Given the description of an element on the screen output the (x, y) to click on. 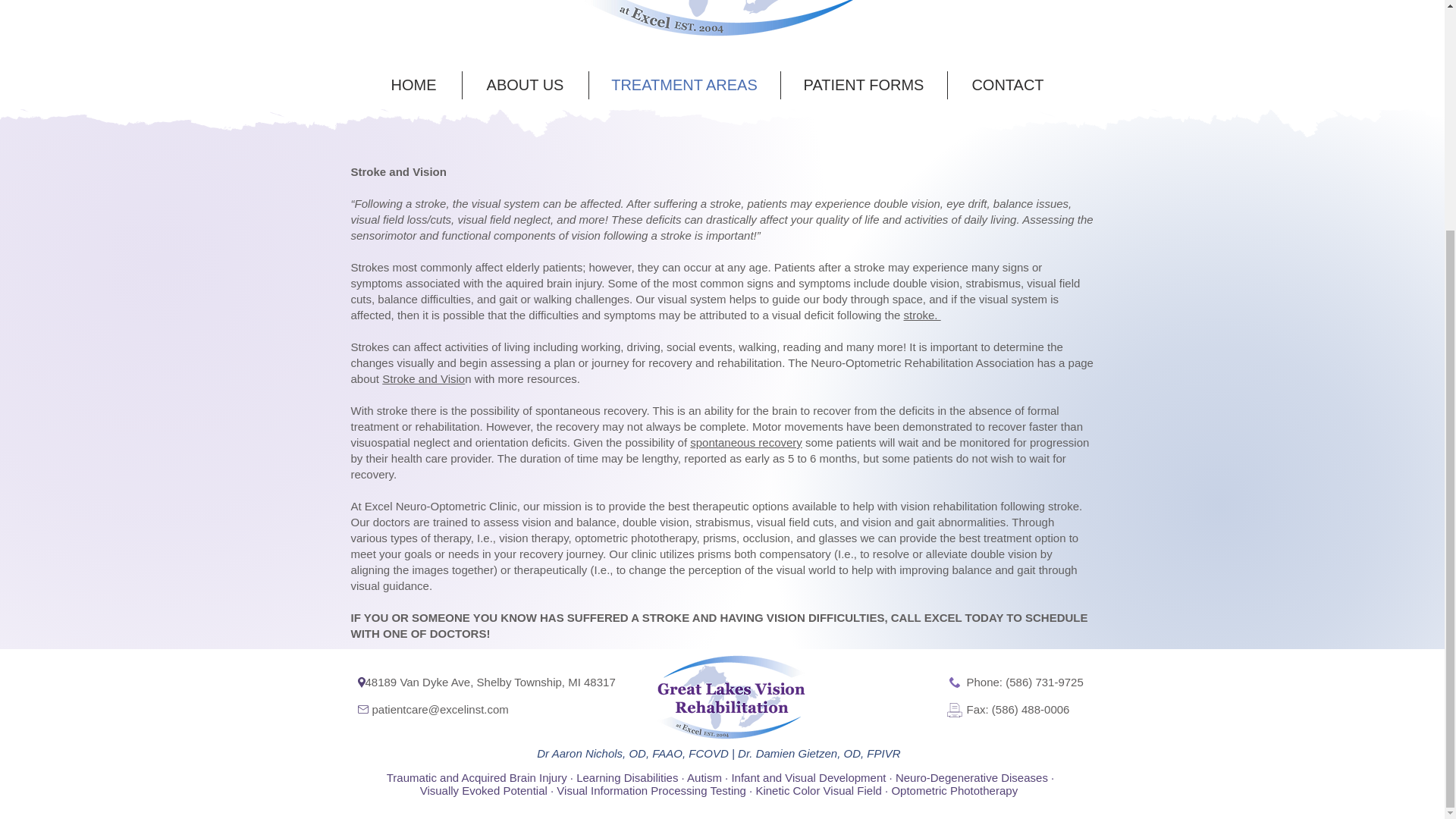
HOME (413, 85)
PATIENT FORMS (863, 85)
Stroke and Visio (422, 378)
TREATMENT AREAS (683, 85)
ABOUT US (525, 85)
stroke.  (922, 314)
CONTACT (1007, 85)
